Given the description of an element on the screen output the (x, y) to click on. 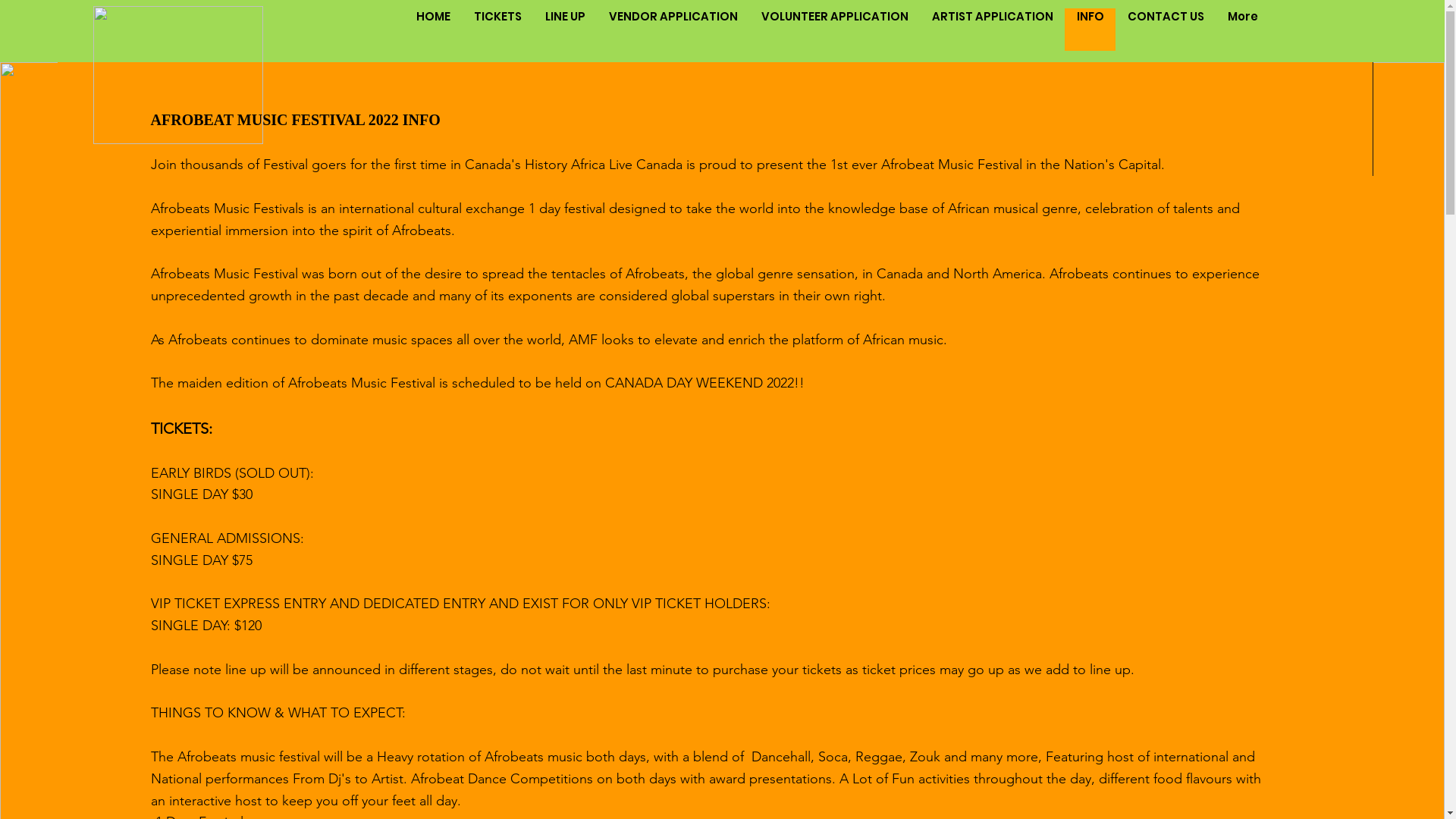
ARTIST APPLICATION Element type: text (991, 29)
INFO Element type: text (1089, 29)
CONTACT US Element type: text (1165, 29)
HOME Element type: text (432, 29)
VOLUNTEER APPLICATION Element type: text (834, 29)
LINE UP Element type: text (564, 29)
VENDOR APPLICATION Element type: text (672, 29)
TICKETS Element type: text (497, 29)
